Given the description of an element on the screen output the (x, y) to click on. 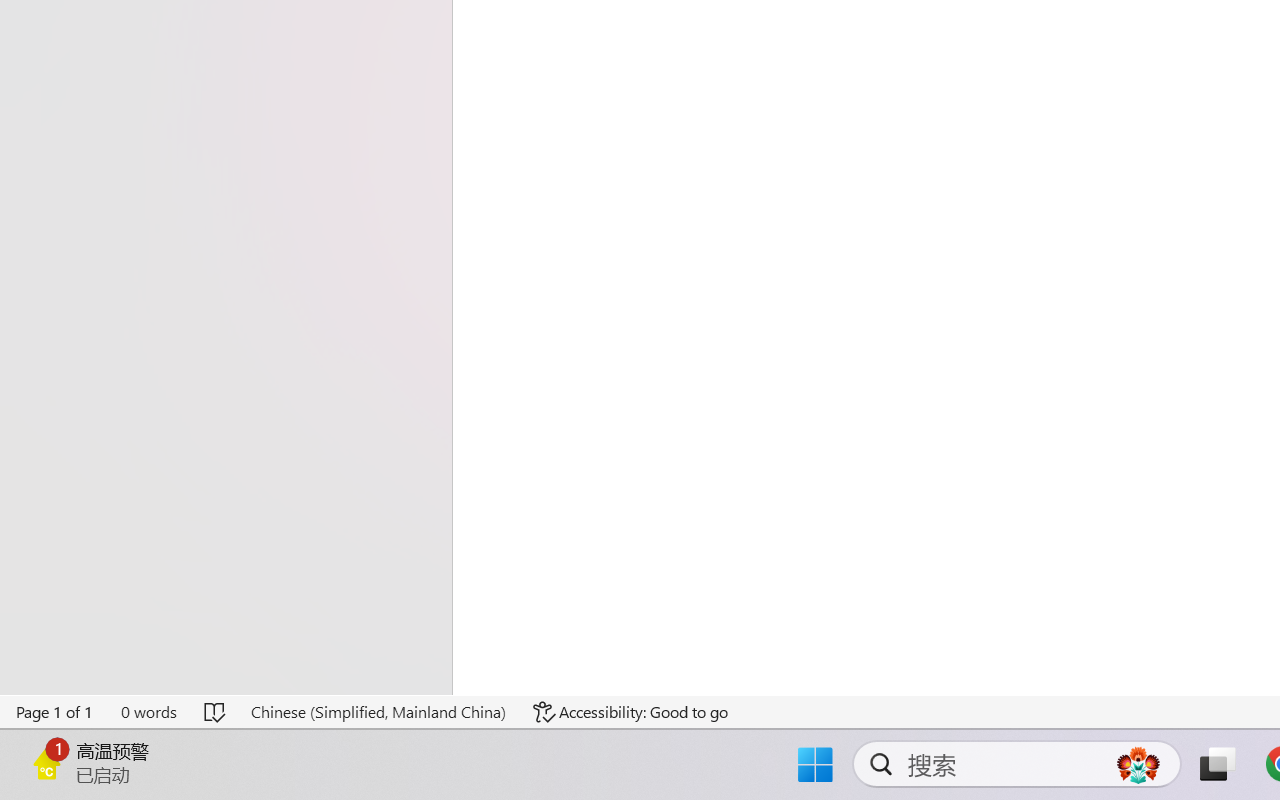
Language Chinese (Simplified, Mainland China) (378, 712)
